Given the description of an element on the screen output the (x, y) to click on. 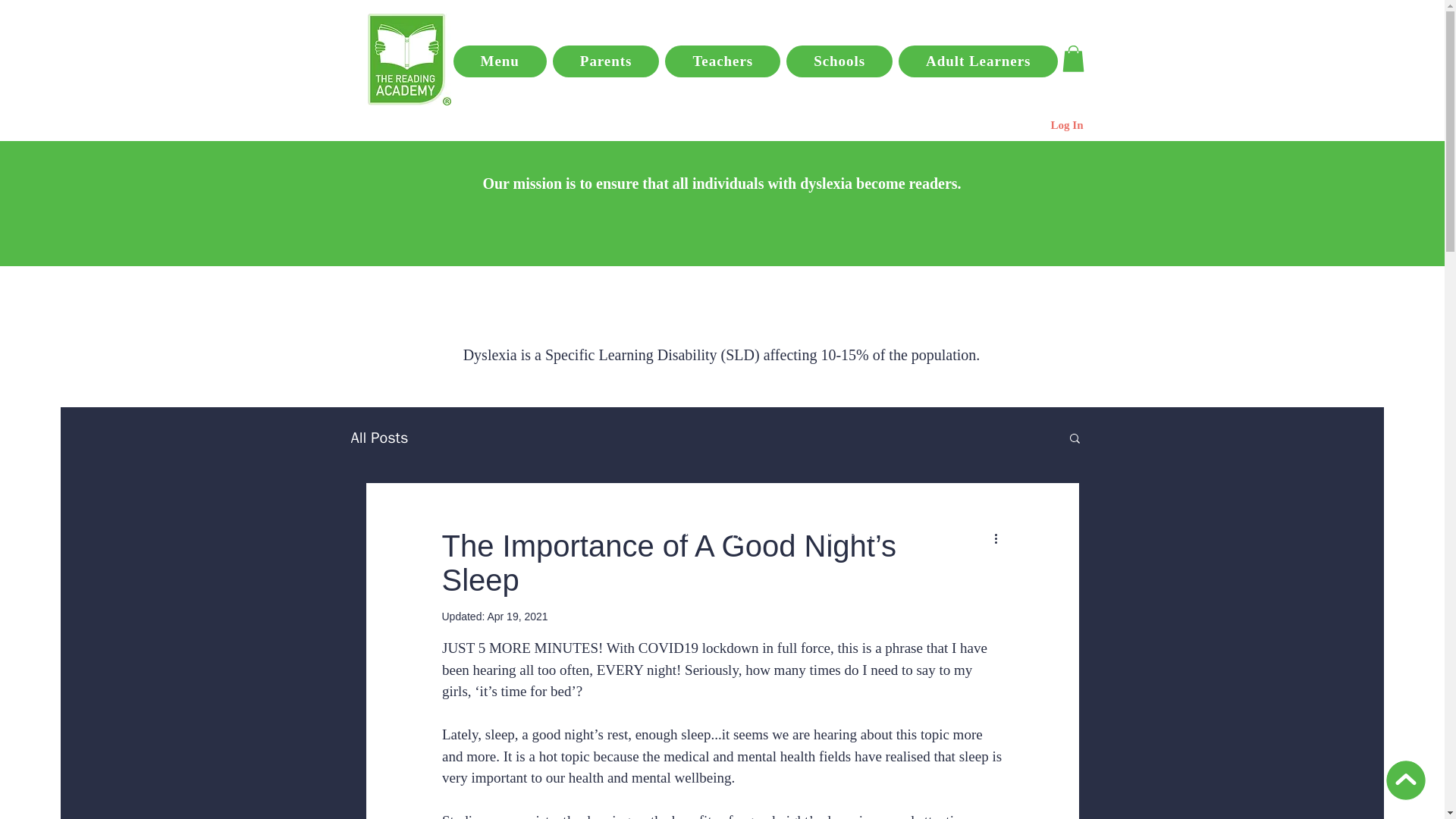
Schools (839, 60)
Adult Learners (978, 60)
HERE (845, 511)
Log In (1067, 125)
All Posts (378, 437)
Parents (606, 60)
Apr 19, 2021 (516, 616)
Teachers (722, 60)
